Given the description of an element on the screen output the (x, y) to click on. 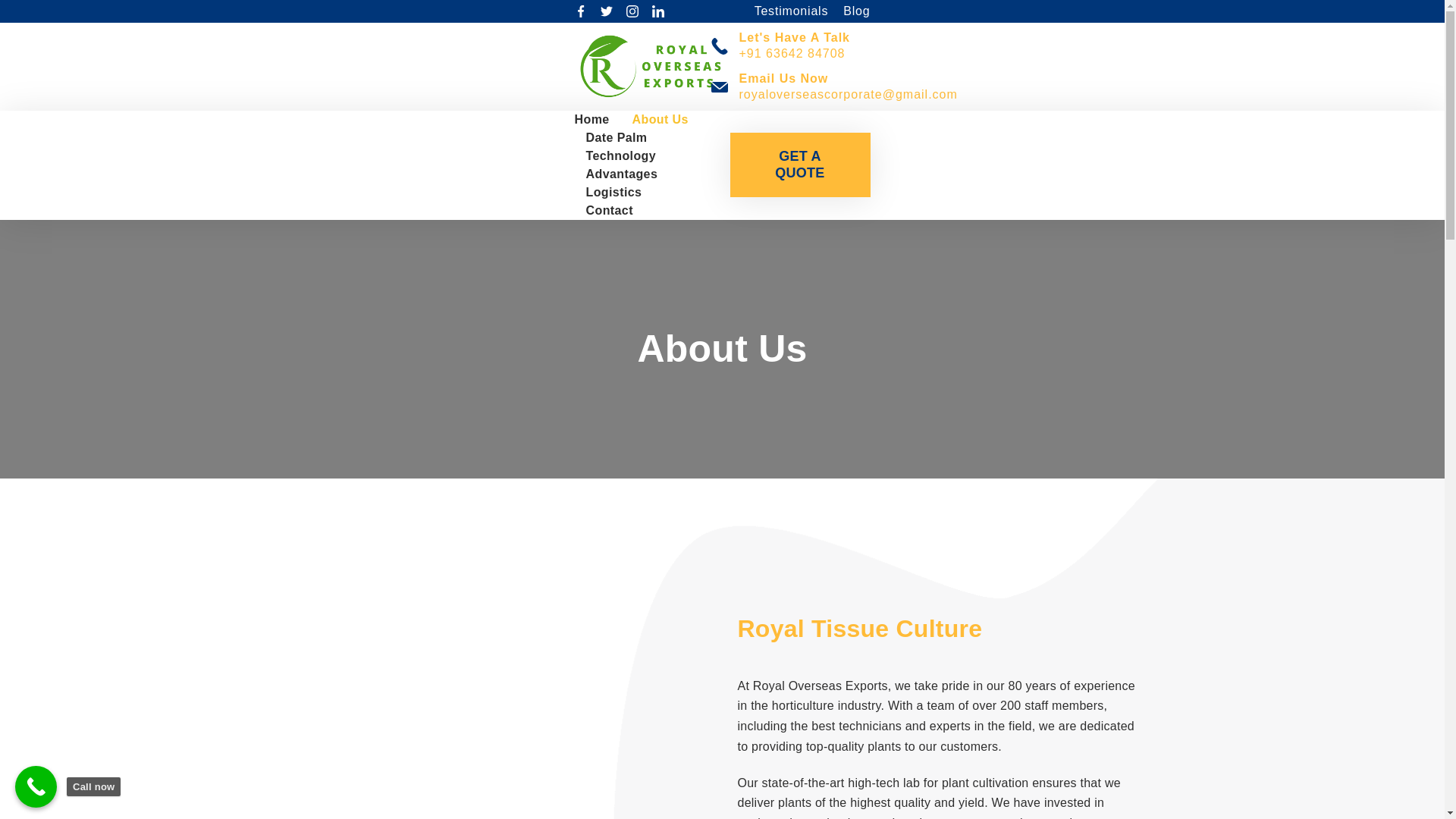
Logistics (614, 192)
Contact (604, 210)
Home (598, 119)
Blog (852, 10)
Testimonials (794, 10)
About Us (660, 119)
Advantages (622, 174)
GET A QUOTE (799, 164)
Date Palm (617, 137)
Technology (621, 156)
